Given the description of an element on the screen output the (x, y) to click on. 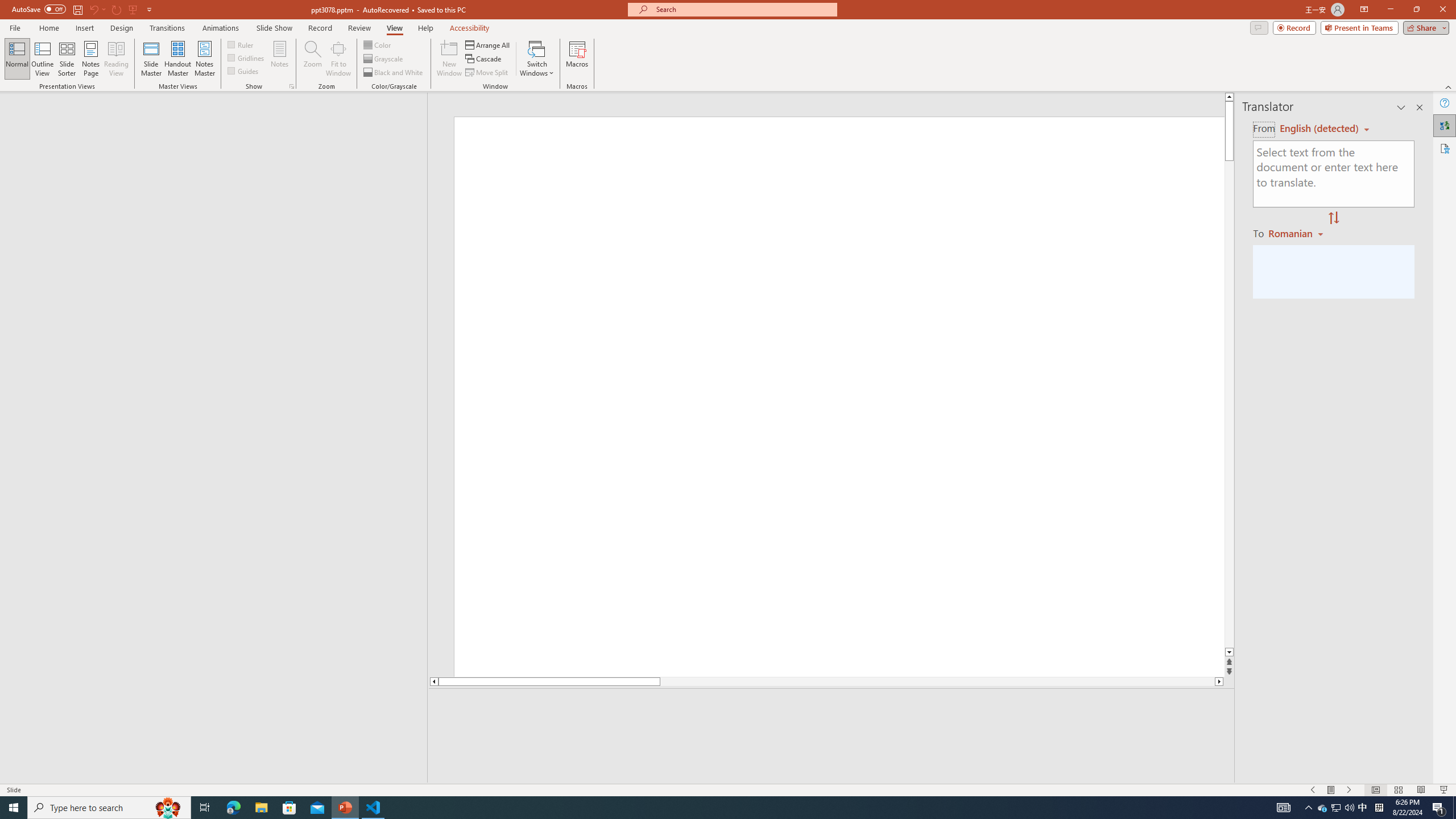
Guides (243, 69)
Czech (detected) (1319, 128)
Notes Master (204, 58)
Gridlines (246, 56)
Romanian (1296, 232)
